Given the description of an element on the screen output the (x, y) to click on. 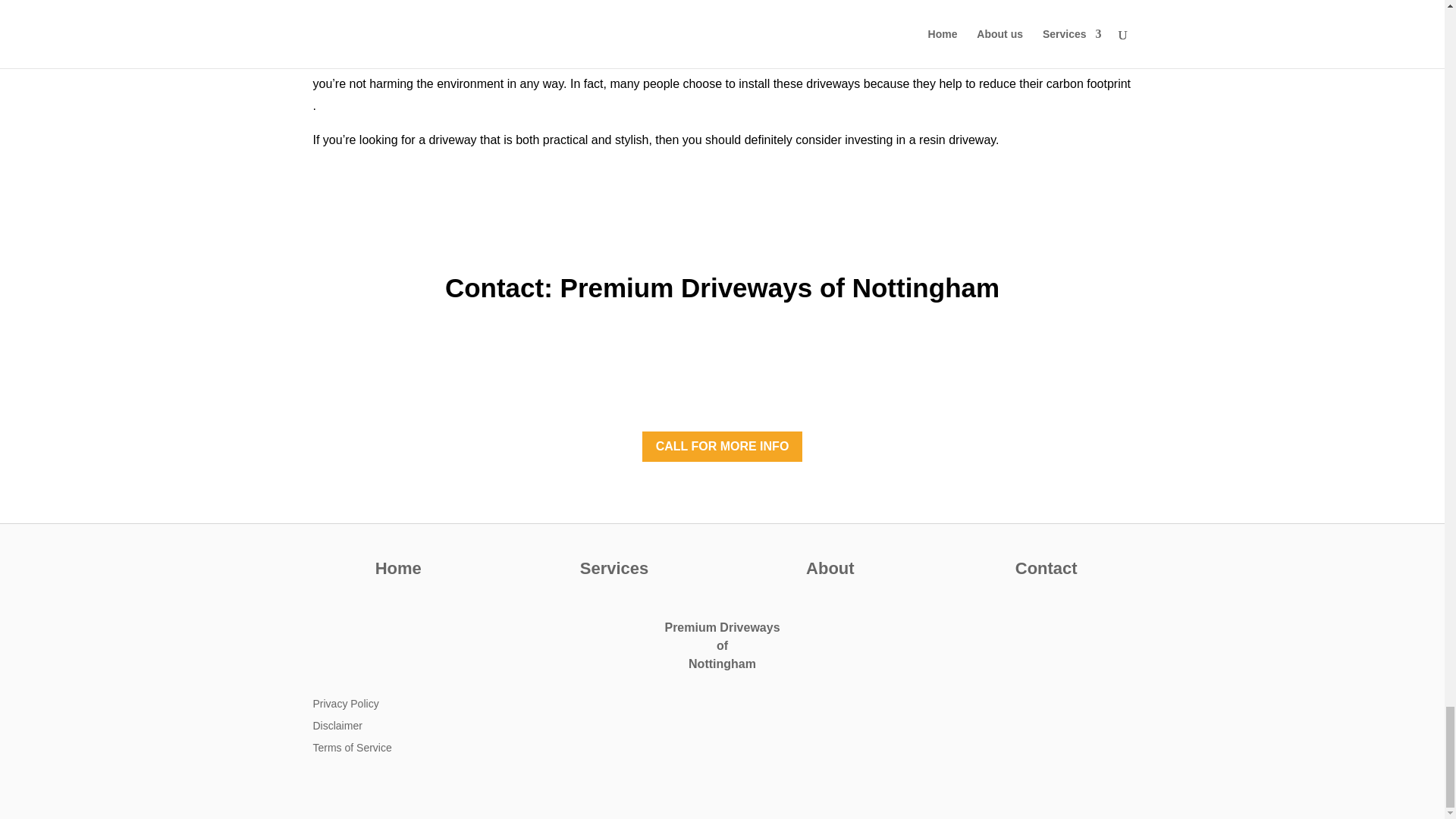
CALL FOR MORE INFO (722, 446)
